Given the description of an element on the screen output the (x, y) to click on. 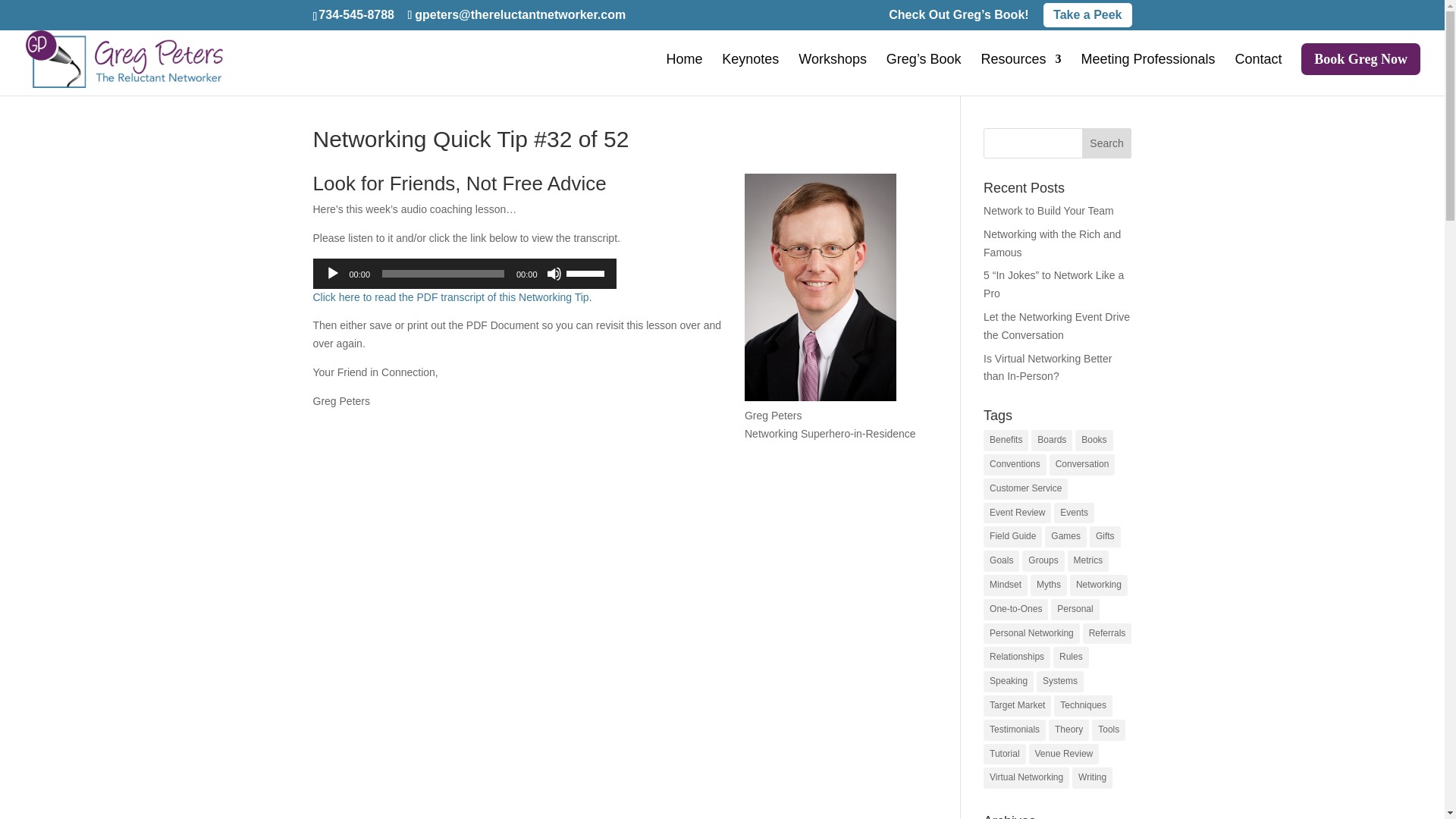
Resources (1020, 74)
Contact (1257, 74)
Let the Networking Event Drive the Conversation (1056, 326)
Search (1106, 142)
Search (1106, 142)
Keynotes (750, 74)
Click here to read the PDF transcript of this Networking Tip (450, 297)
Take a Peek (1087, 15)
Network to Build Your Team (1048, 210)
Workshops (831, 74)
Mute (553, 273)
Networking with the Rich and Famous (1052, 243)
Home (683, 74)
Play (331, 273)
Book Greg Now (1361, 69)
